Given the description of an element on the screen output the (x, y) to click on. 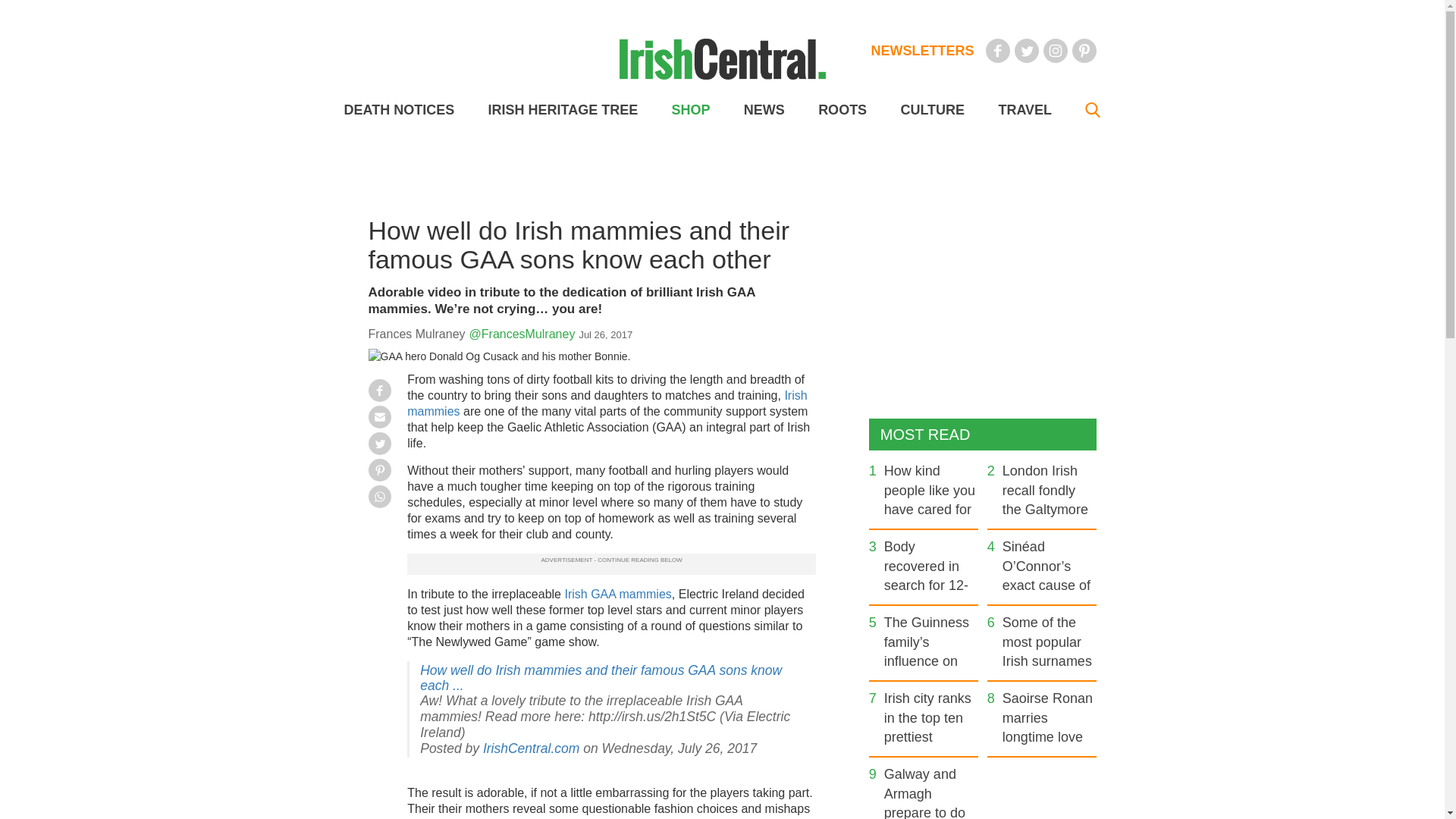
CULTURE (931, 109)
NEWS (764, 109)
TRAVEL (1024, 109)
DEATH NOTICES (398, 109)
ROOTS (842, 109)
NEWSLETTERS (922, 50)
SHOP (690, 109)
IRISH HERITAGE TREE (562, 109)
